Given the description of an element on the screen output the (x, y) to click on. 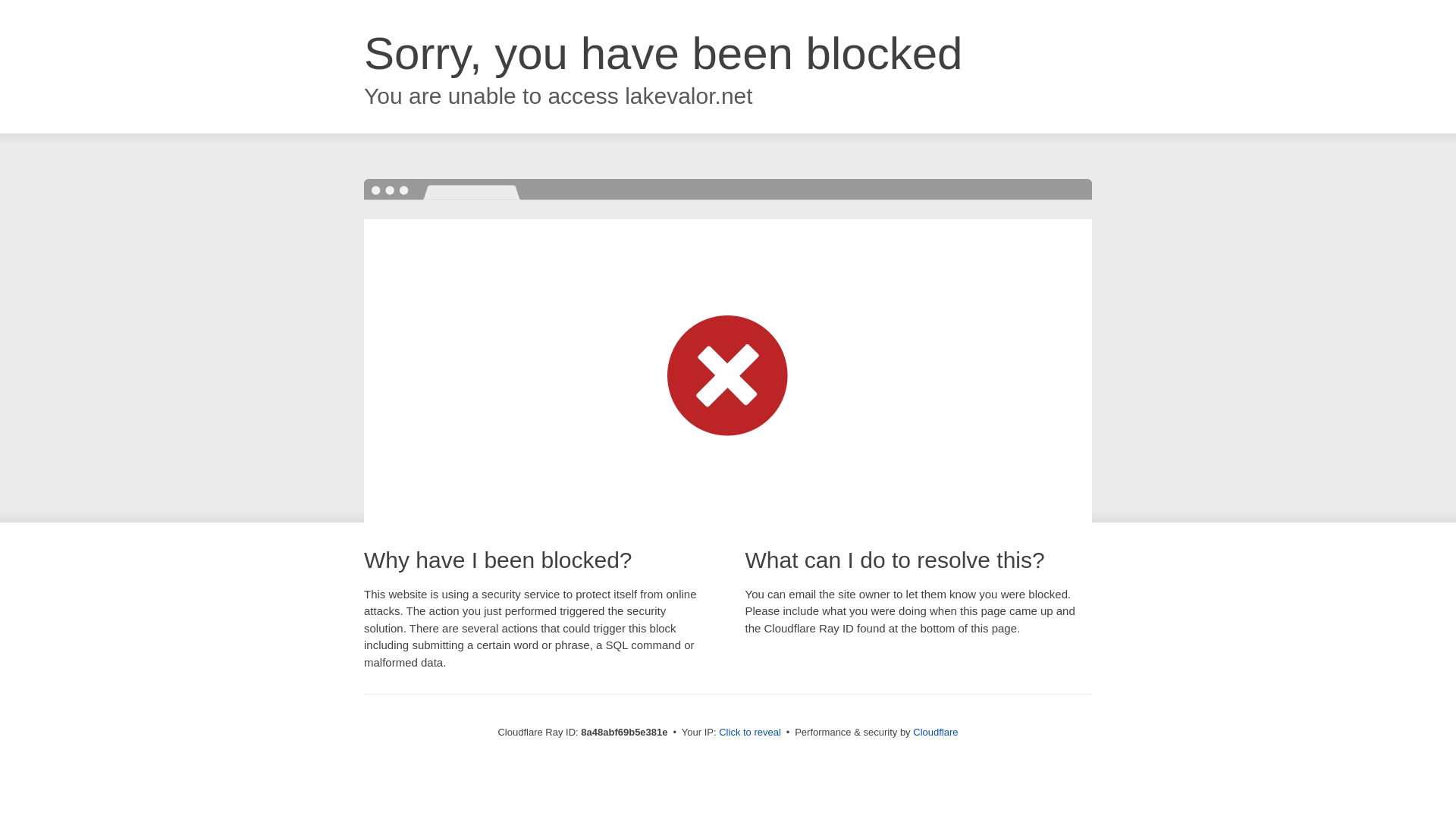
Cloudflare (935, 731)
Click to reveal (749, 732)
